Given the description of an element on the screen output the (x, y) to click on. 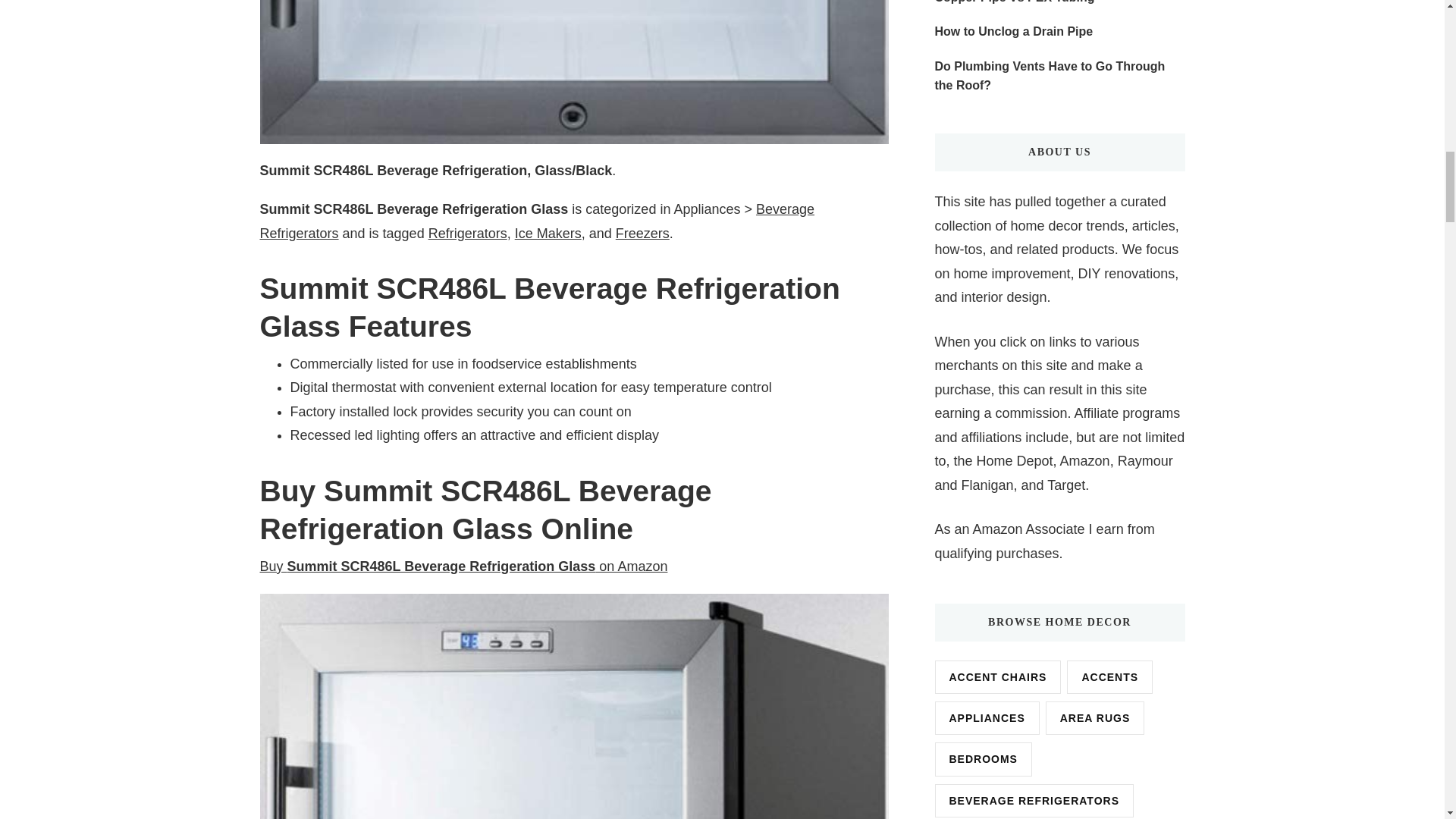
Freezers (642, 233)
Beverage Refrigerators (536, 220)
Ice Makers (547, 233)
Beverage Refrigerators (536, 220)
Refrigerators (467, 233)
Buy Summit SCR486L Beverage Refrigeration Glass on Amazon (462, 566)
Summit SCR486L Beverage Refrigeration Glass (462, 566)
Refrigerators (467, 233)
Ice Makers (547, 233)
Summit SCR486L Beverage Refrigeration Glass (573, 72)
Freezers (642, 233)
